Given the description of an element on the screen output the (x, y) to click on. 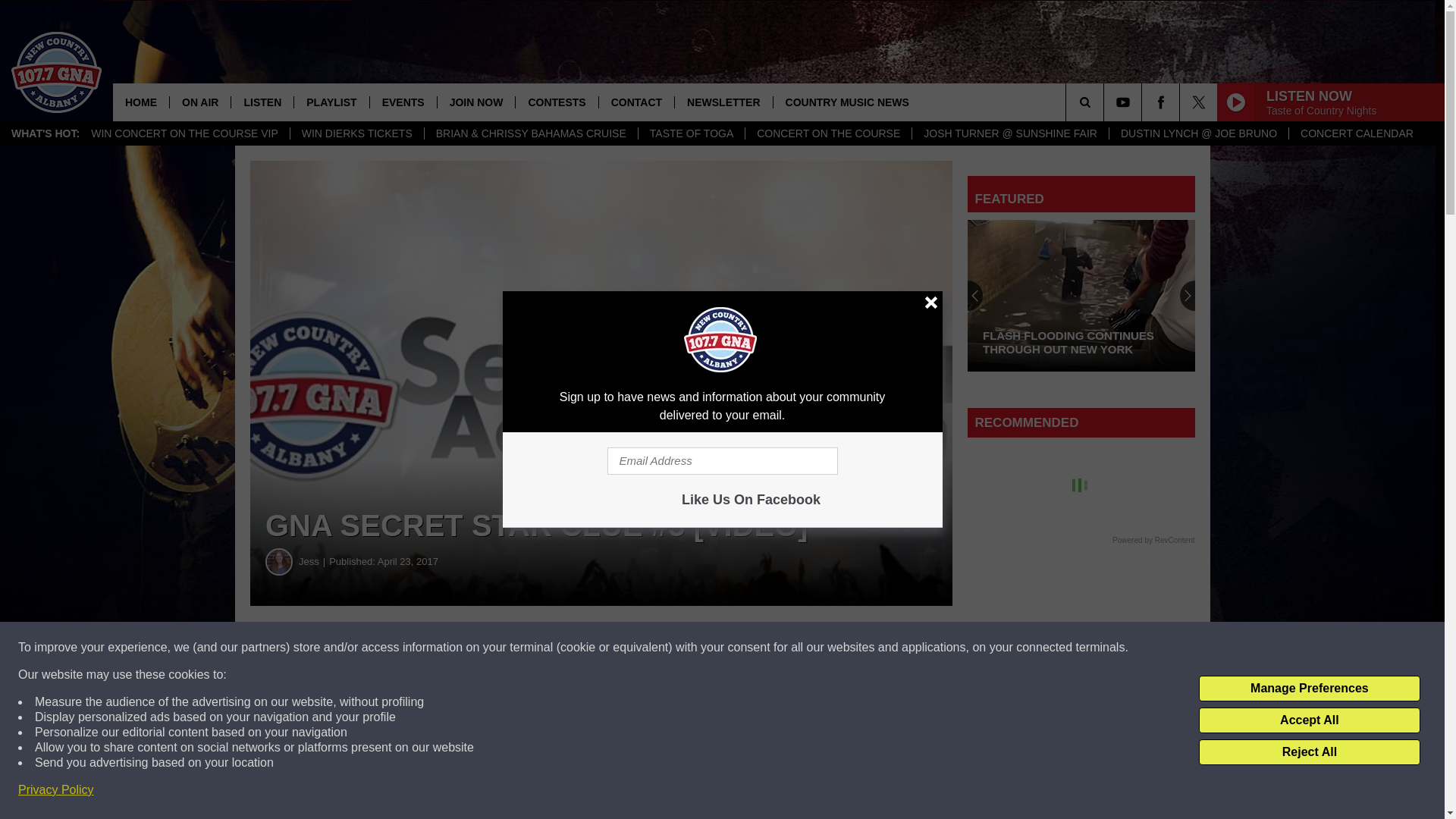
HOME (140, 102)
CONCERT CALENDAR (1356, 133)
Email Address (722, 461)
Share on Twitter (741, 647)
ON AIR (199, 102)
SEARCH (1106, 102)
SEARCH (1106, 102)
CONCERT ON THE COURSE (827, 133)
Reject All (1309, 751)
Share on Facebook (460, 647)
Manage Preferences (1309, 688)
TASTE OF TOGA (690, 133)
EVENTS (402, 102)
PLAYLIST (331, 102)
WIN CONCERT ON THE COURSE VIP (184, 133)
